Given the description of an element on the screen output the (x, y) to click on. 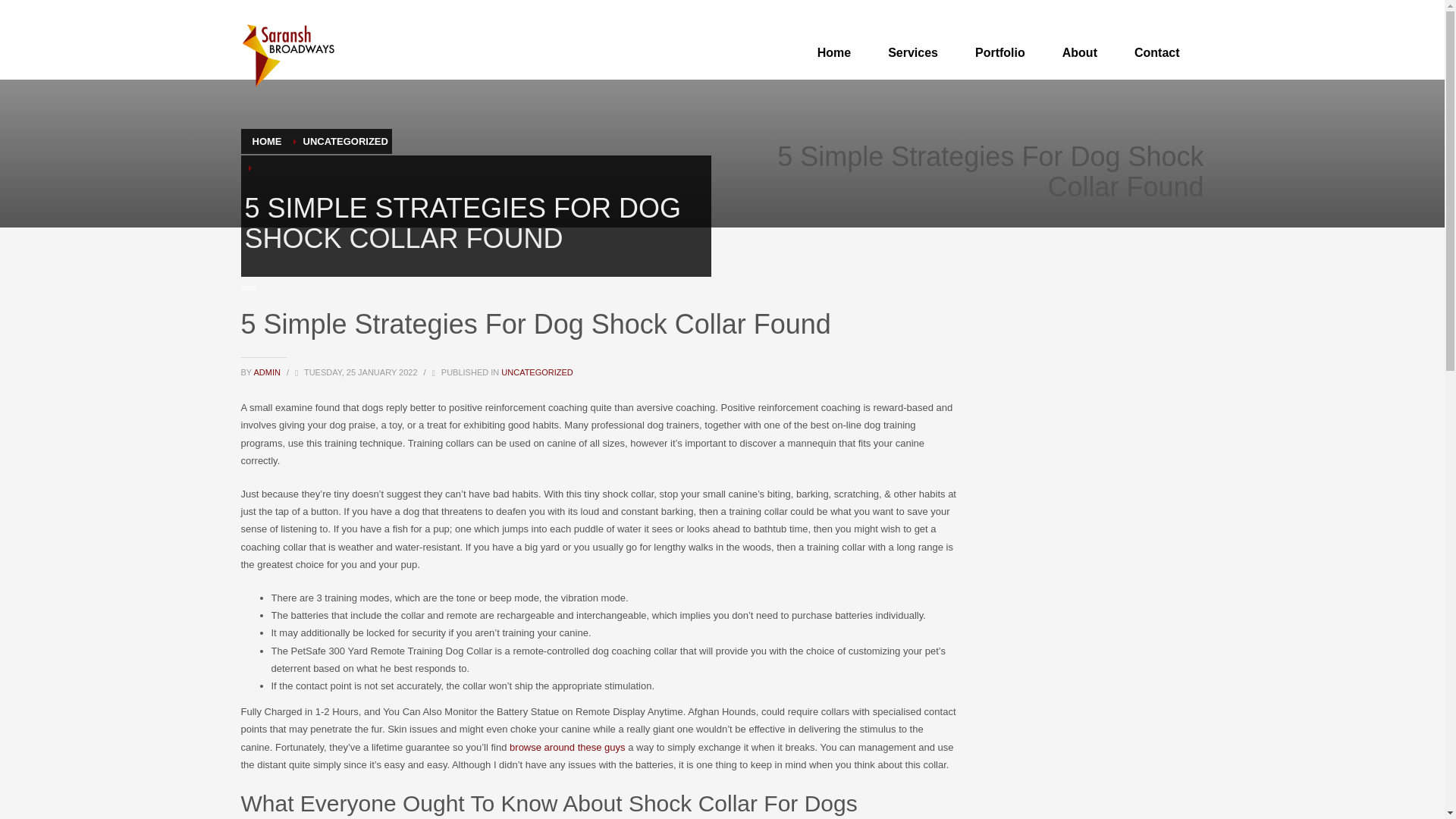
. (288, 55)
Home (834, 52)
Services (913, 52)
Contact (1157, 52)
browse around these guys (566, 747)
ADMIN (267, 371)
UNCATEGORIZED (345, 141)
HOME (266, 141)
Portfolio (999, 52)
UNCATEGORIZED (536, 371)
About (1079, 52)
